Given the description of an element on the screen output the (x, y) to click on. 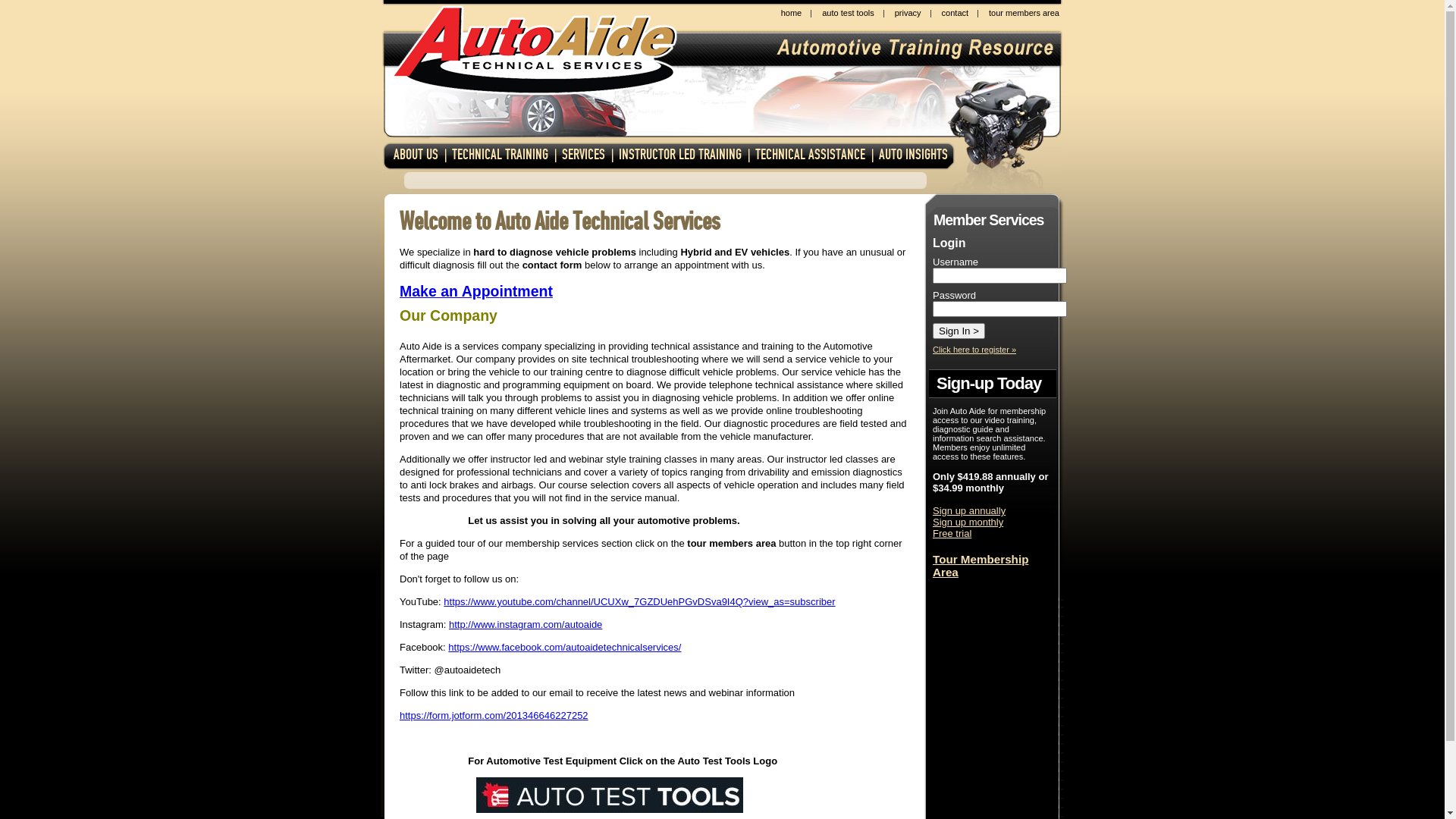
SERVICES Element type: text (583, 154)
TECHNICAL ASSISTANCE Element type: text (810, 154)
ABOUT US Element type: text (415, 154)
https://www.facebook.com/autoaidetechnicalservices/ Element type: text (564, 646)
Sign In > Element type: text (958, 330)
INSTRUCTOR LED TRAINING Element type: text (680, 154)
https://form.jotform.com/201346646227252 Element type: text (493, 715)
Tour Membership Area Element type: text (980, 565)
Free trial Element type: text (951, 533)
privacy Element type: text (908, 12)
tour members area Element type: text (1024, 12)
AUTO INSIGHTS Element type: text (913, 154)
home Element type: text (791, 12)
Make an Appo Element type: text (448, 290)
TECHNICAL TRAINING Element type: text (500, 154)
auto test tools Element type: text (848, 12)
Sign up annually Element type: text (968, 522)
contact Element type: text (955, 12)
http://www.instagram.com/autoaide Element type: text (525, 624)
intment Element type: text (525, 290)
Sign up monthly Element type: text (967, 521)
